Given the description of an element on the screen output the (x, y) to click on. 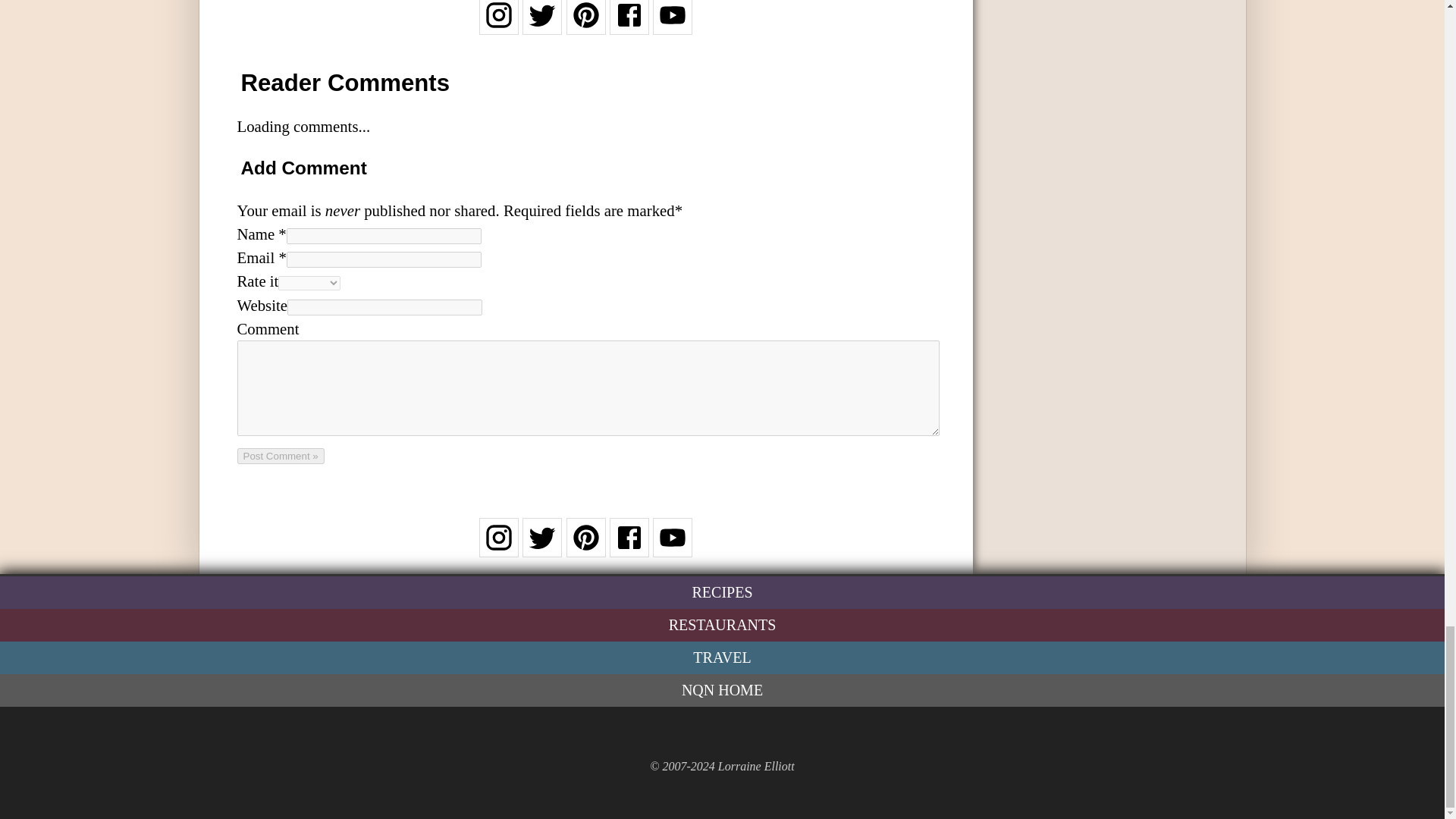
Follow on YouTube (672, 547)
Follow on Facebook (629, 24)
Follow on YouTube (672, 24)
Follow on Twitter (542, 547)
Follow on Pinterest (584, 547)
Follow on Pinterest (584, 24)
Follow on Instagram (498, 24)
Follow on Instagram (498, 547)
Follow on Twitter (542, 24)
Follow on Facebook (629, 547)
